Given the description of an element on the screen output the (x, y) to click on. 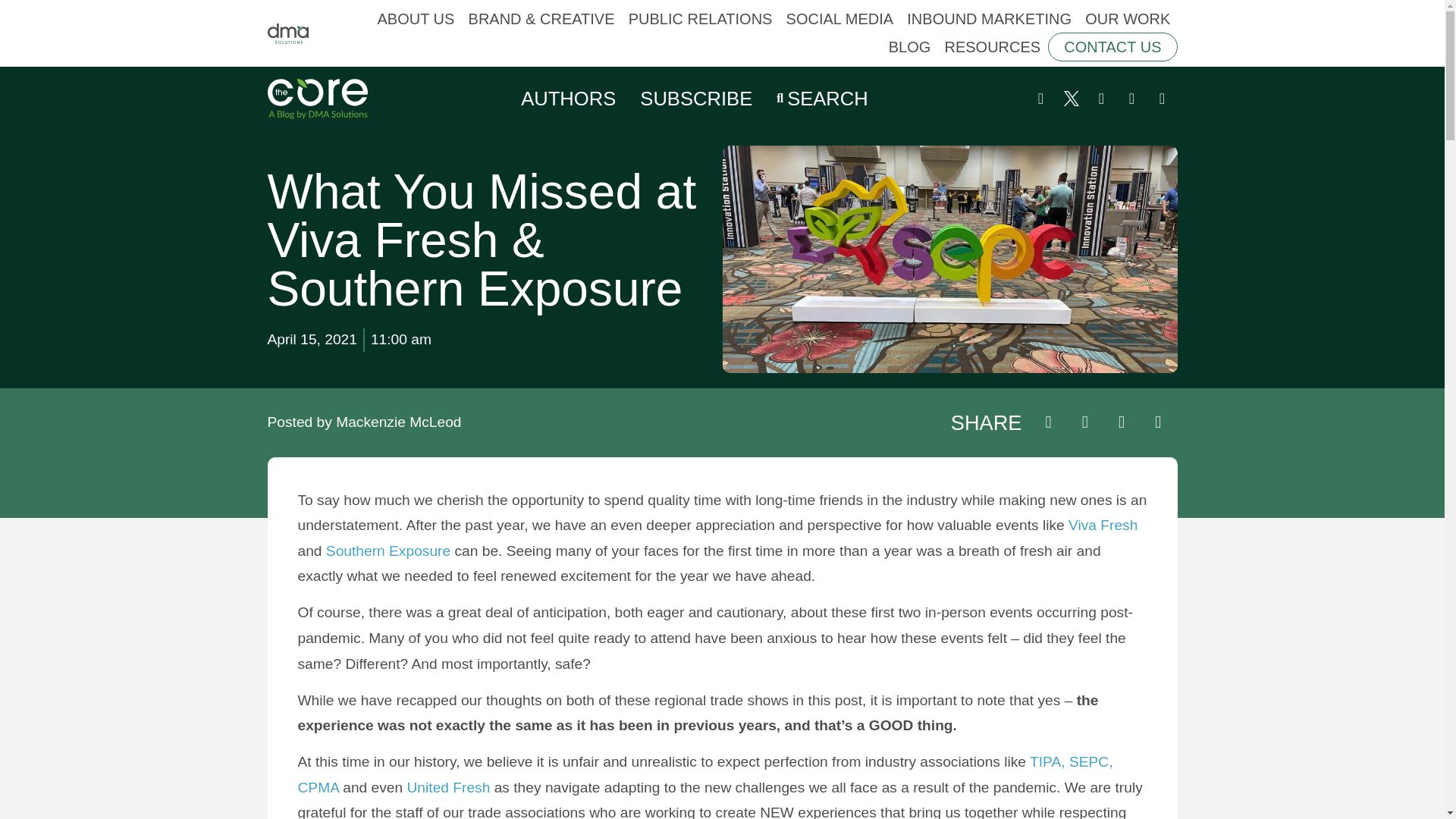
SUBSCRIBE (696, 98)
PUBLIC RELATIONS (700, 18)
ABOUT US (415, 18)
SOCIAL MEDIA (839, 18)
RESOURCES (991, 46)
AUTHORS (568, 98)
CONTACT US (1112, 46)
Posted by Mackenzie McLeod (363, 422)
BLOG (909, 46)
Viva Fresh (1102, 524)
